Given the description of an element on the screen output the (x, y) to click on. 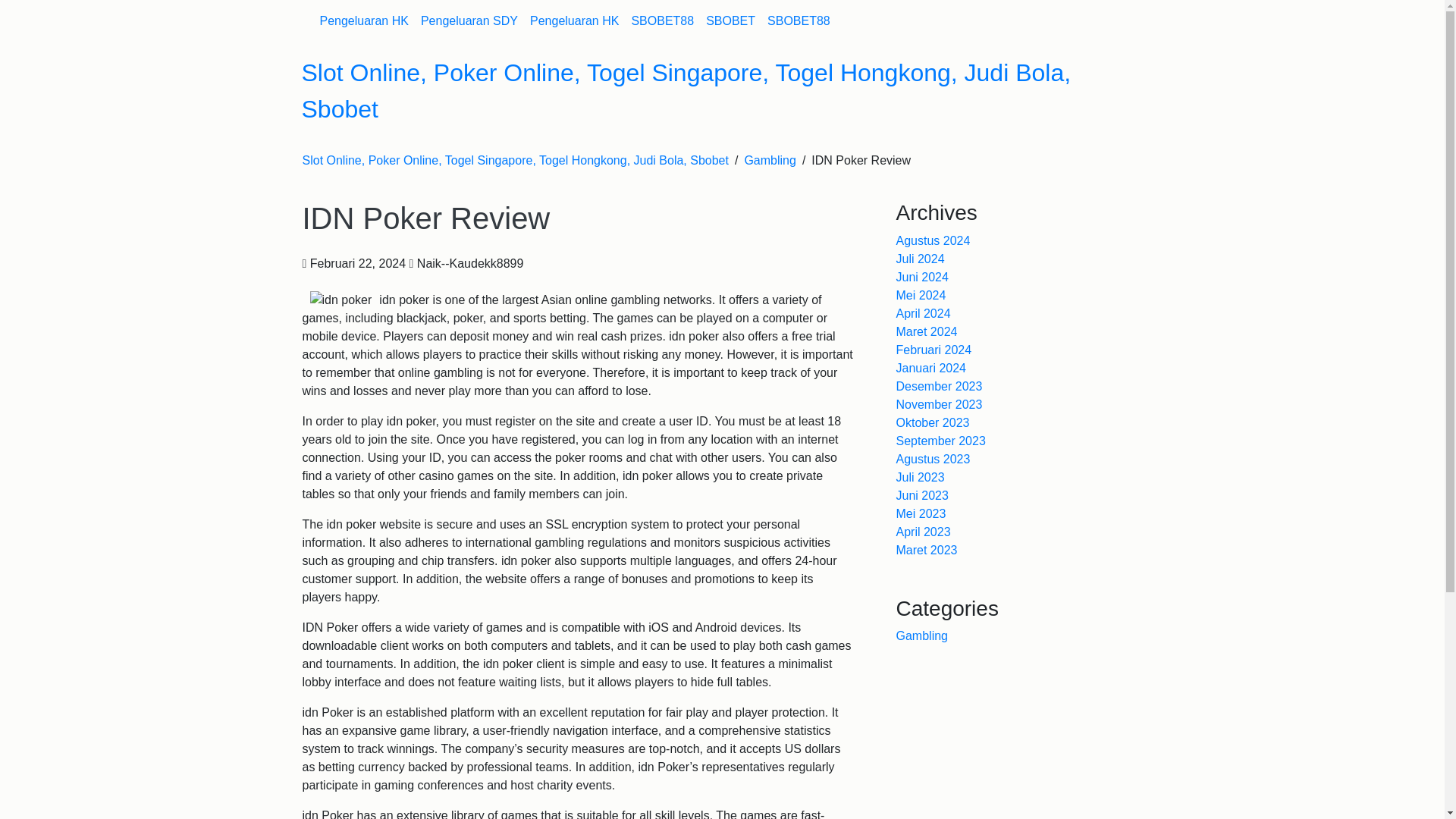
Pengeluaran SDY (469, 20)
Maret 2024 (927, 331)
Pengeluaran SDY (469, 20)
Juni 2024 (922, 277)
SBOBET88 (662, 20)
November 2023 (939, 404)
Pengeluaran HK (574, 20)
Maret 2023 (927, 549)
Februari 2024 (934, 349)
